Given the description of an element on the screen output the (x, y) to click on. 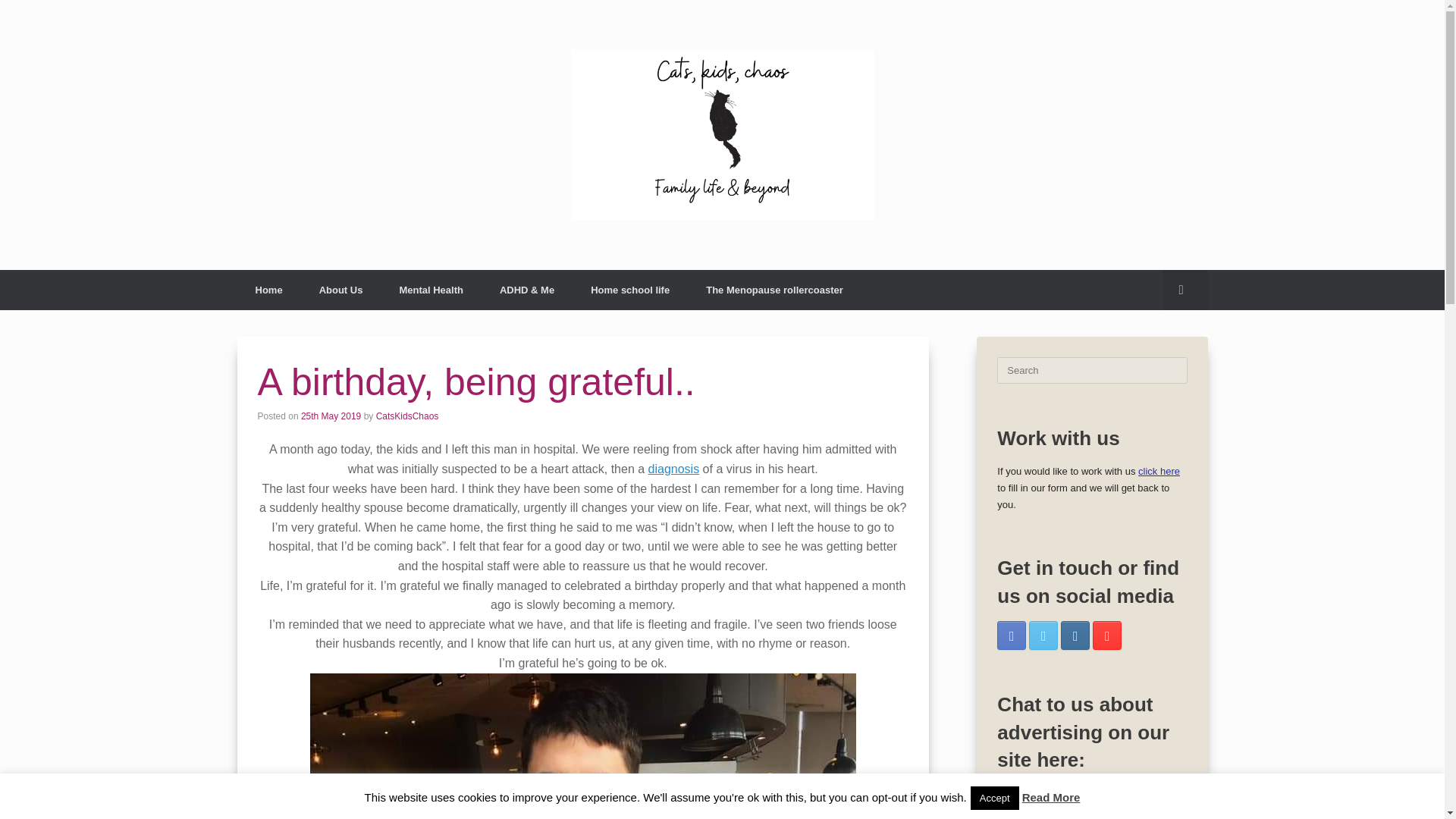
25th May 2019 (331, 416)
CatsKidsChaos Pinterest (1107, 635)
Accept (995, 797)
About Us (341, 290)
View all posts by CatsKidsChaos (407, 416)
diagnosis (673, 468)
The Menopause rollercoaster (774, 290)
9:45 pm (331, 416)
Mental Health (430, 290)
CatsKidsChaos Facebook (1011, 635)
CatsKidsChaos Instagram (1075, 635)
Home school life (629, 290)
CatsKidsChaos (407, 416)
click here (1158, 471)
Home (267, 290)
